Given the description of an element on the screen output the (x, y) to click on. 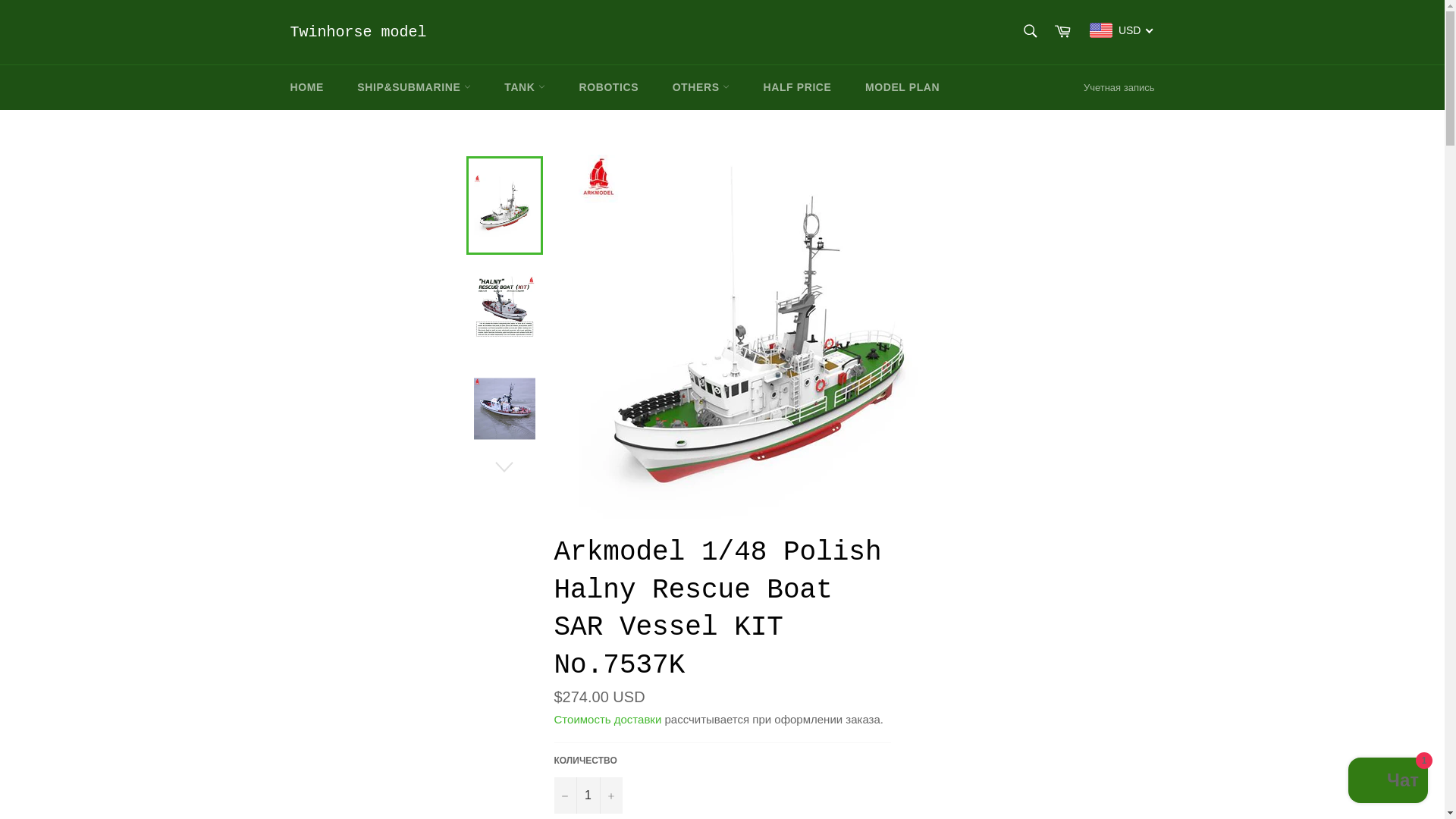
Twinhorse model (357, 32)
HOME (306, 87)
1 (587, 795)
